Given the description of an element on the screen output the (x, y) to click on. 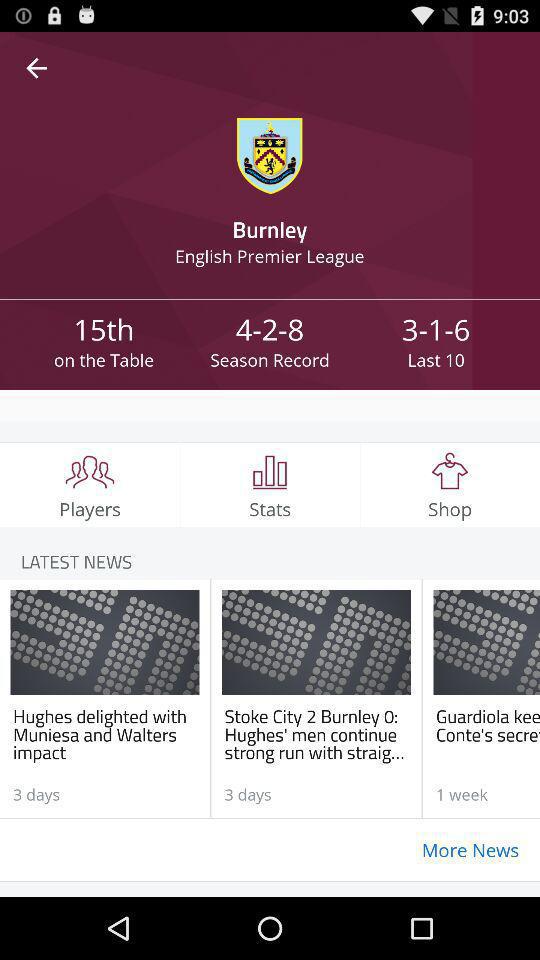
click the icon at the top left corner (36, 68)
